Given the description of an element on the screen output the (x, y) to click on. 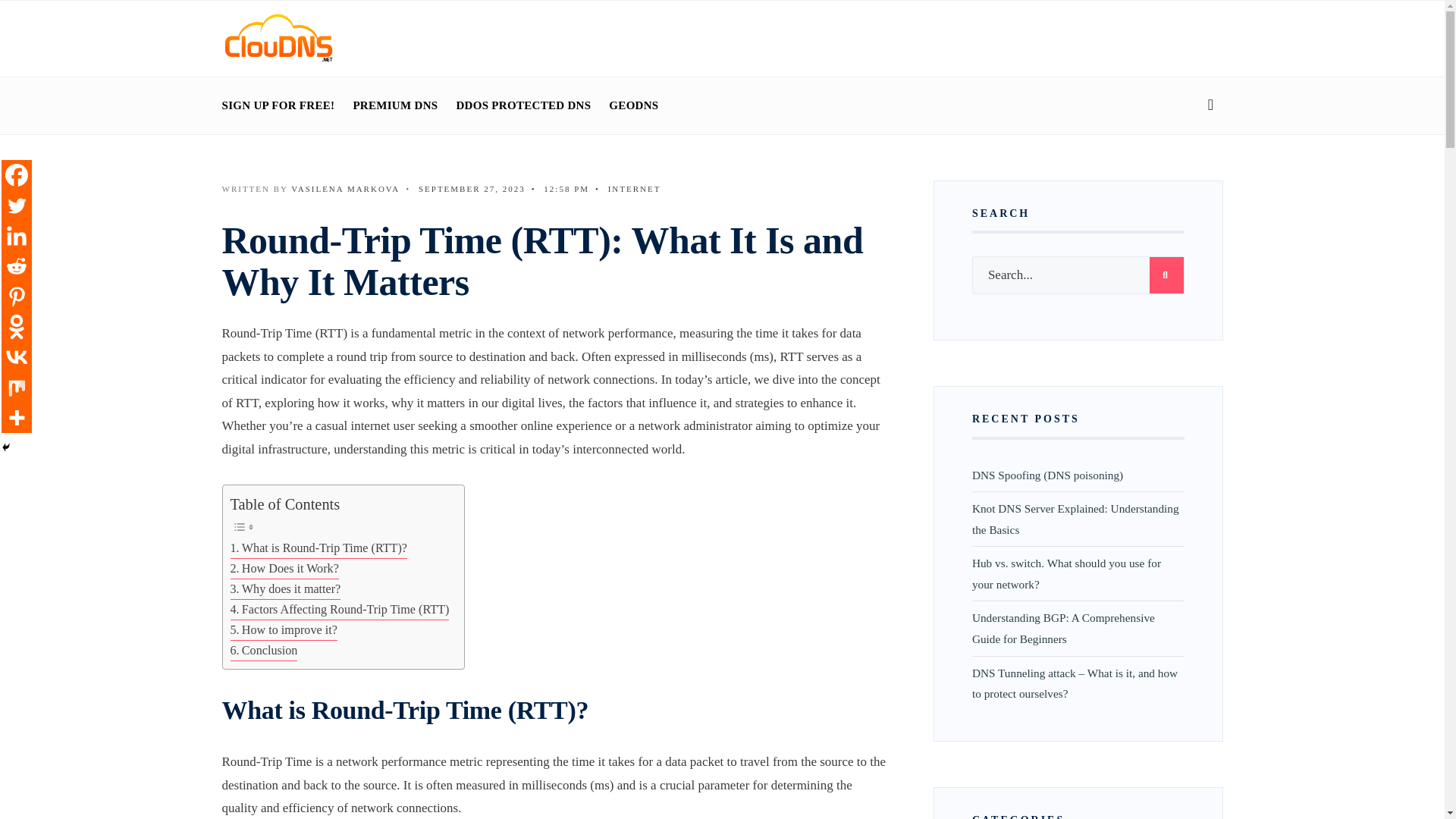
Search... (1078, 275)
Posts by Vasilena Markova (344, 188)
VASILENA MARKOVA (344, 188)
PREMIUM DNS (395, 105)
Why does it matter? (285, 589)
Why does it matter? (285, 589)
Conclusion (264, 650)
SIGN UP FOR FREE! (277, 105)
DDOS PROTECTED DNS (523, 105)
How to improve it? (283, 629)
